Given the description of an element on the screen output the (x, y) to click on. 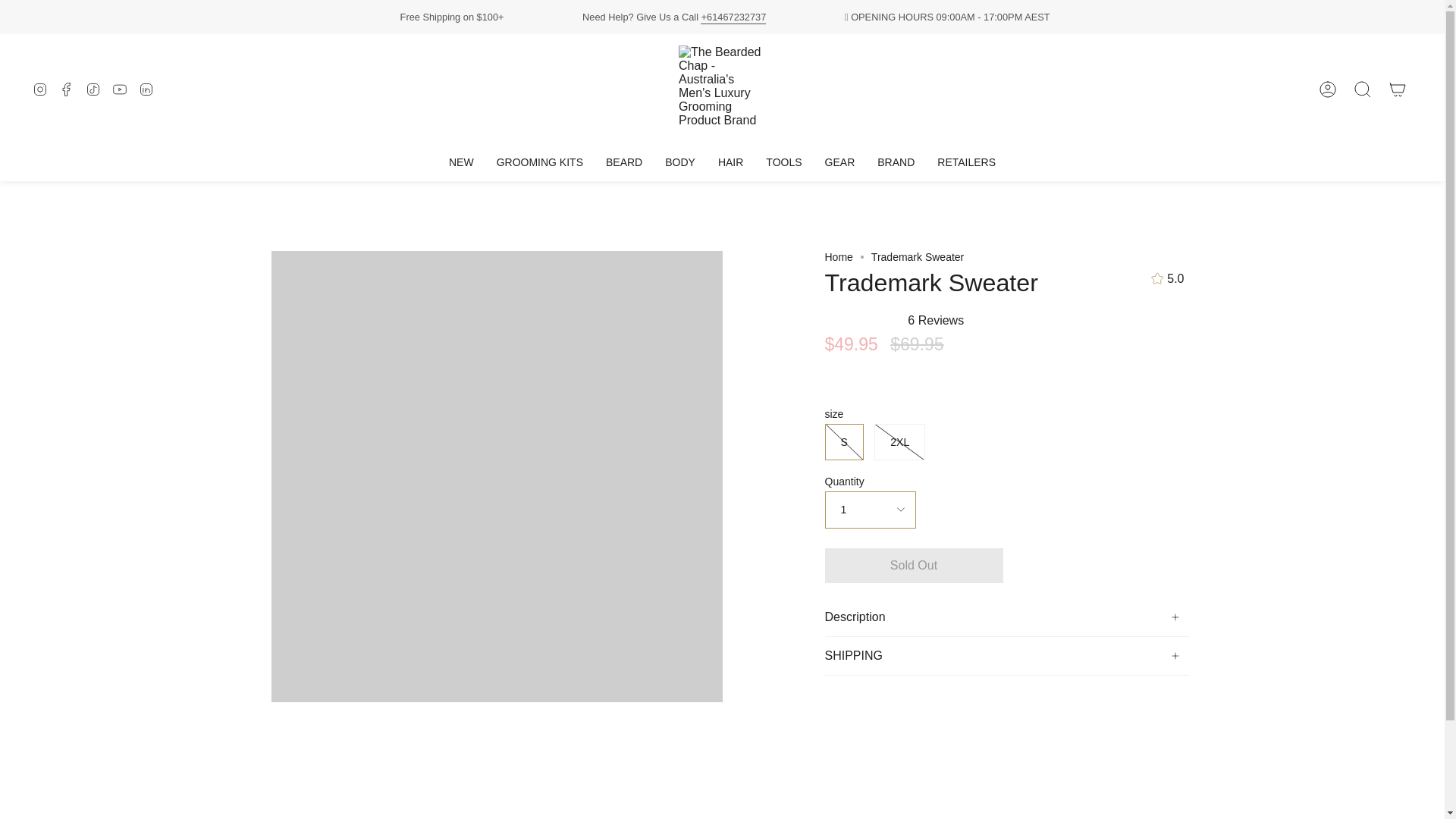
GROOMING KITS (539, 162)
NEW (461, 162)
